Given the description of an element on the screen output the (x, y) to click on. 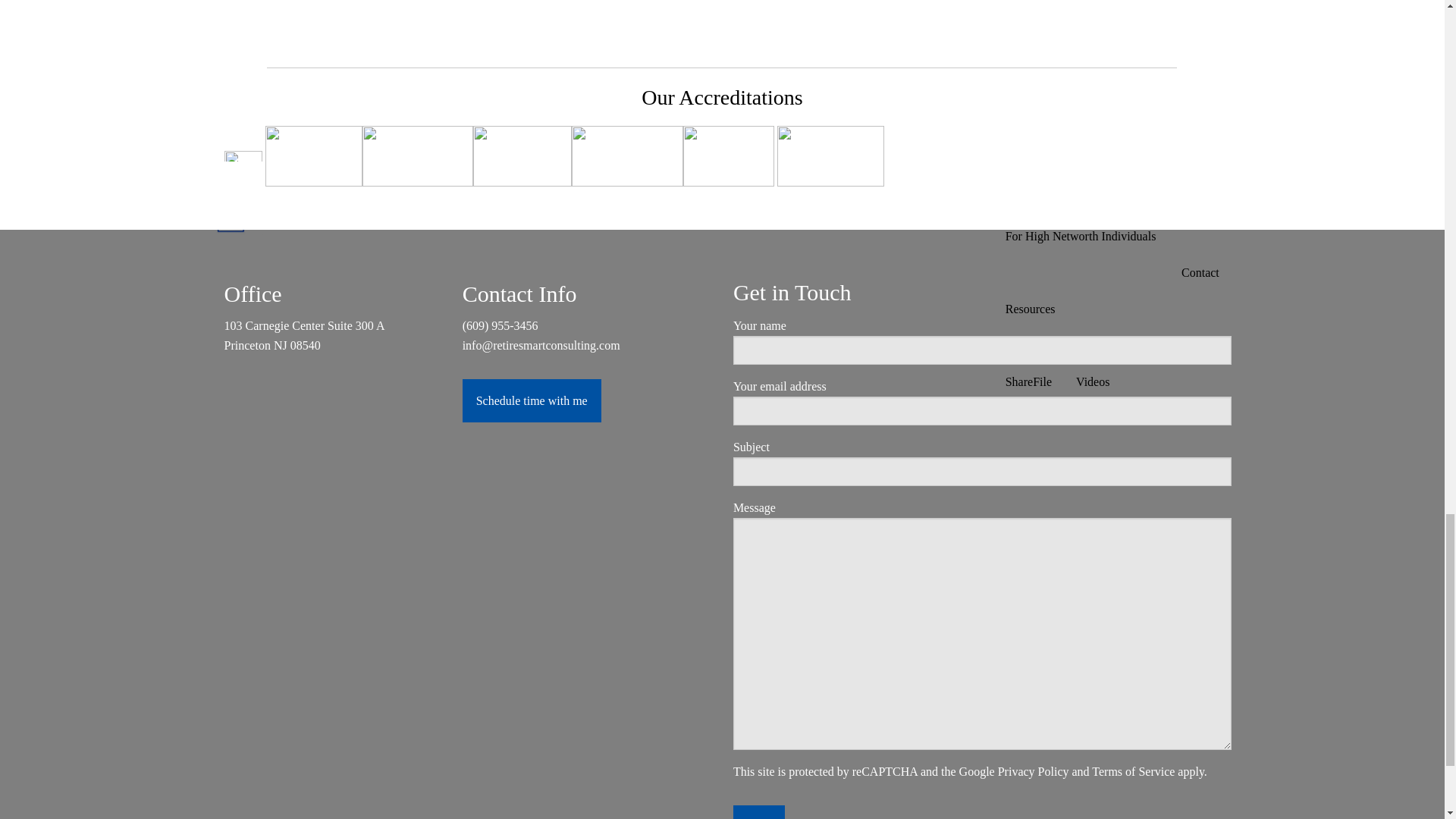
Send (758, 812)
Send (758, 812)
Schedule time with me (532, 400)
Terms of Service (1133, 771)
Privacy Policy (1032, 771)
